Given the description of an element on the screen output the (x, y) to click on. 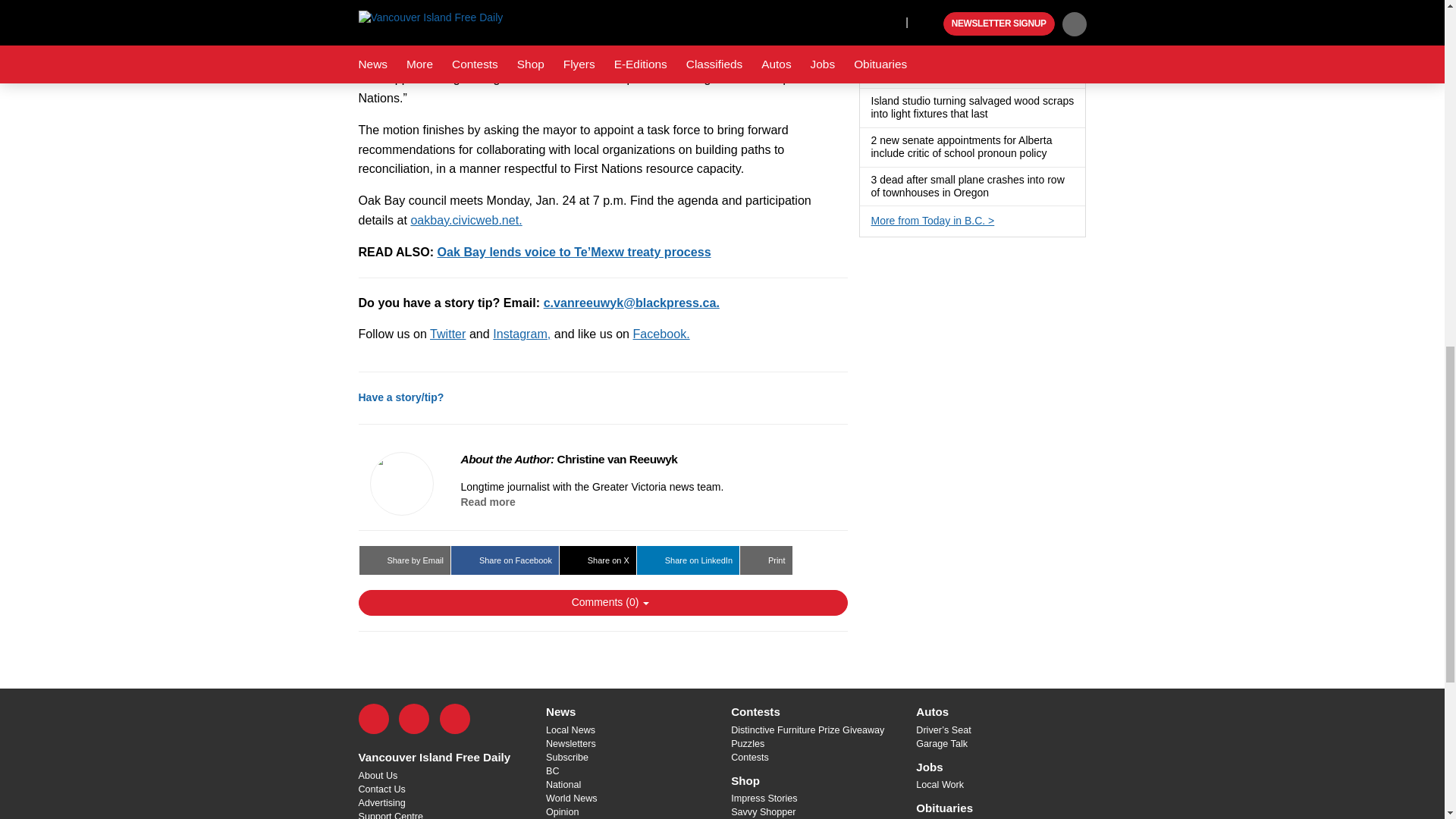
Instagram (454, 718)
Has a gallery (996, 114)
X (413, 718)
Facebook (373, 718)
Show Comments (602, 602)
